Given the description of an element on the screen output the (x, y) to click on. 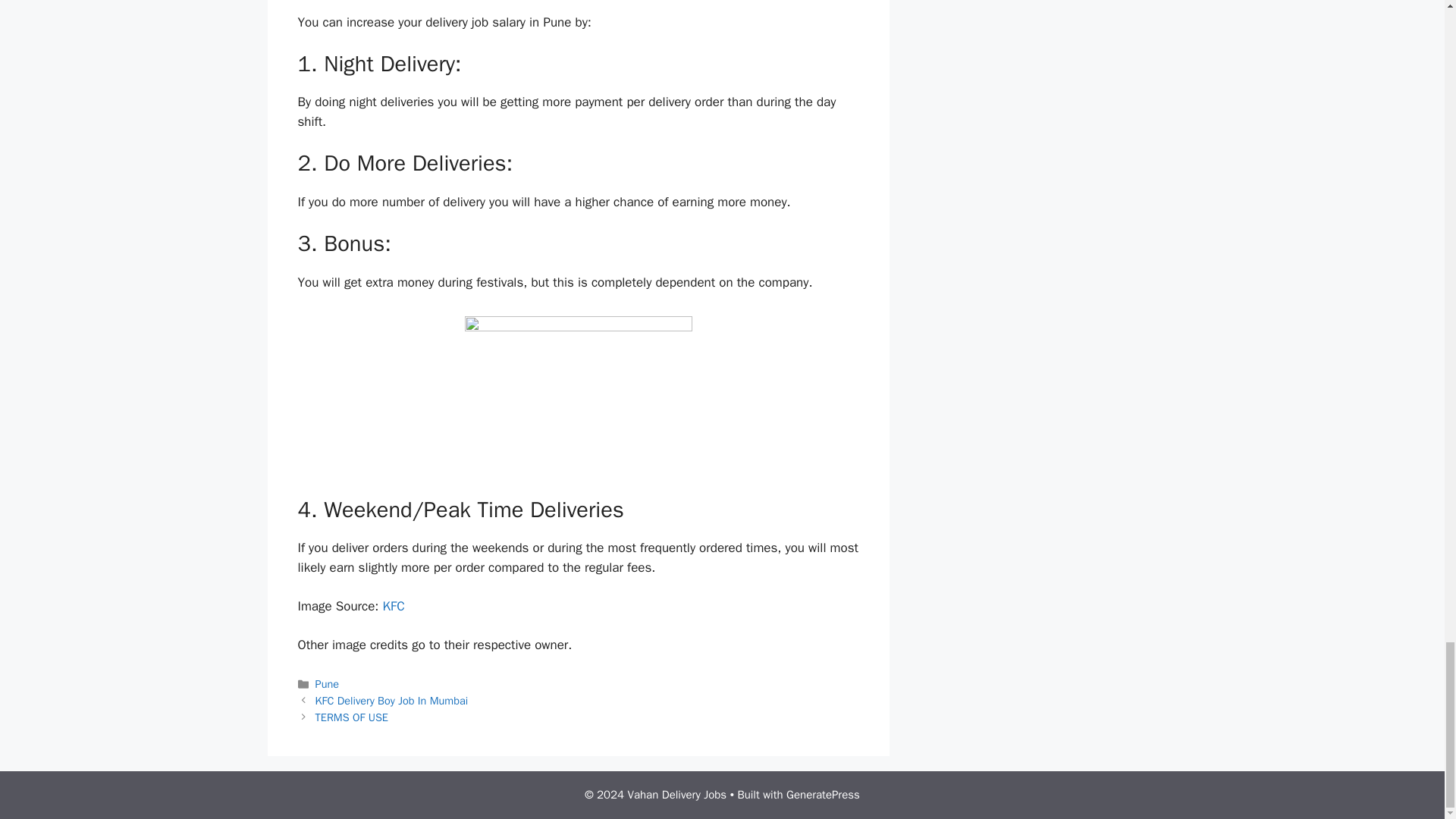
Previous (391, 700)
TERMS OF USE (351, 716)
KFC Delivery Boy Job In Mumbai (391, 700)
GeneratePress (823, 794)
Pune (327, 684)
KFC (393, 606)
Next (351, 716)
